Given the description of an element on the screen output the (x, y) to click on. 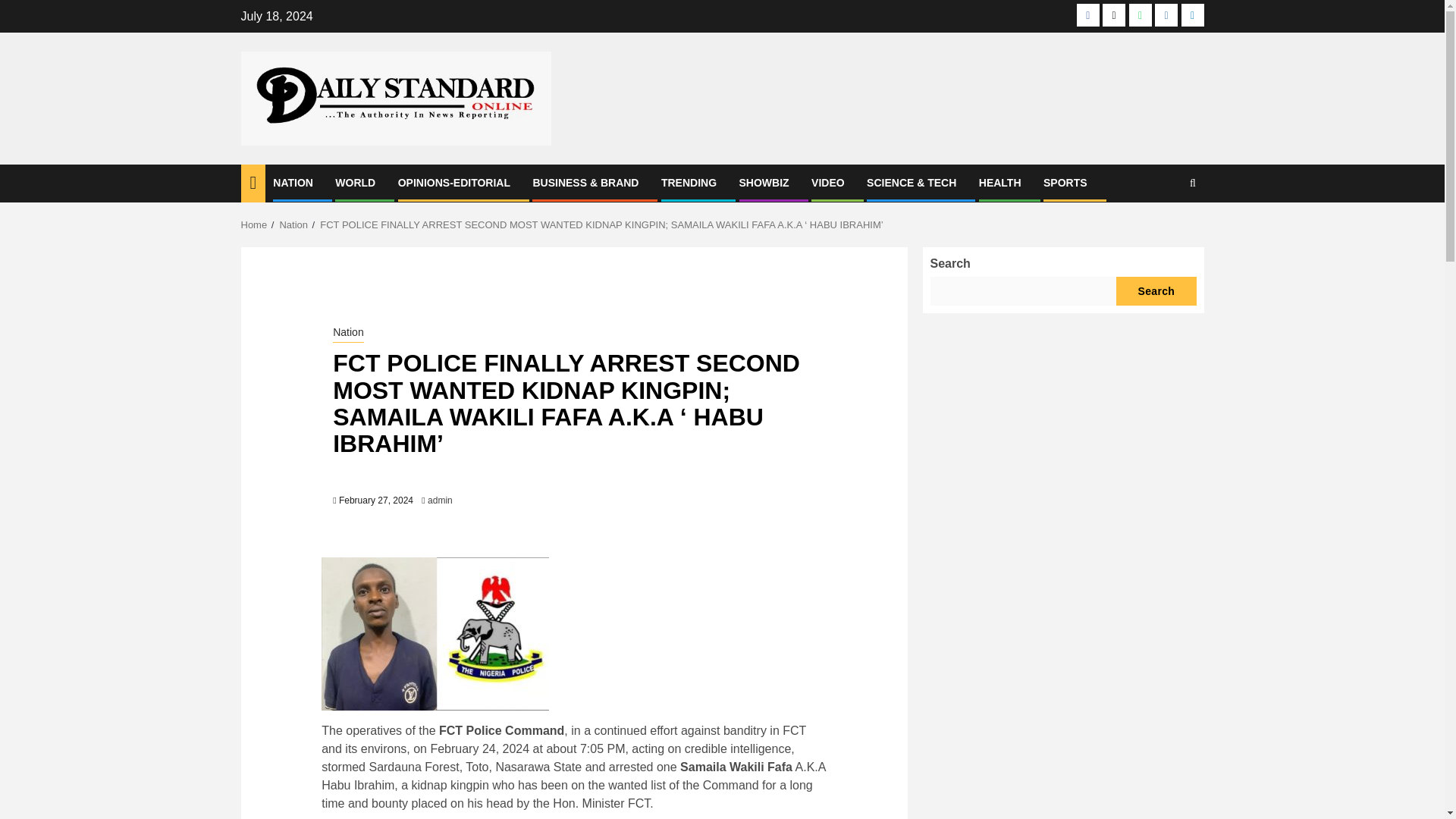
OPINIONS-EDITORIAL (454, 182)
NATION (293, 182)
VIDEO (827, 182)
Search (1163, 229)
SPORTS (1065, 182)
Instagram (1165, 15)
Facebook (1088, 15)
SHOWBIZ (763, 182)
TRENDING (688, 182)
admin (440, 500)
WORLD (354, 182)
Whatsapp (1140, 15)
Nation (293, 224)
Linkedin (1192, 15)
HEALTH (1000, 182)
